Given the description of an element on the screen output the (x, y) to click on. 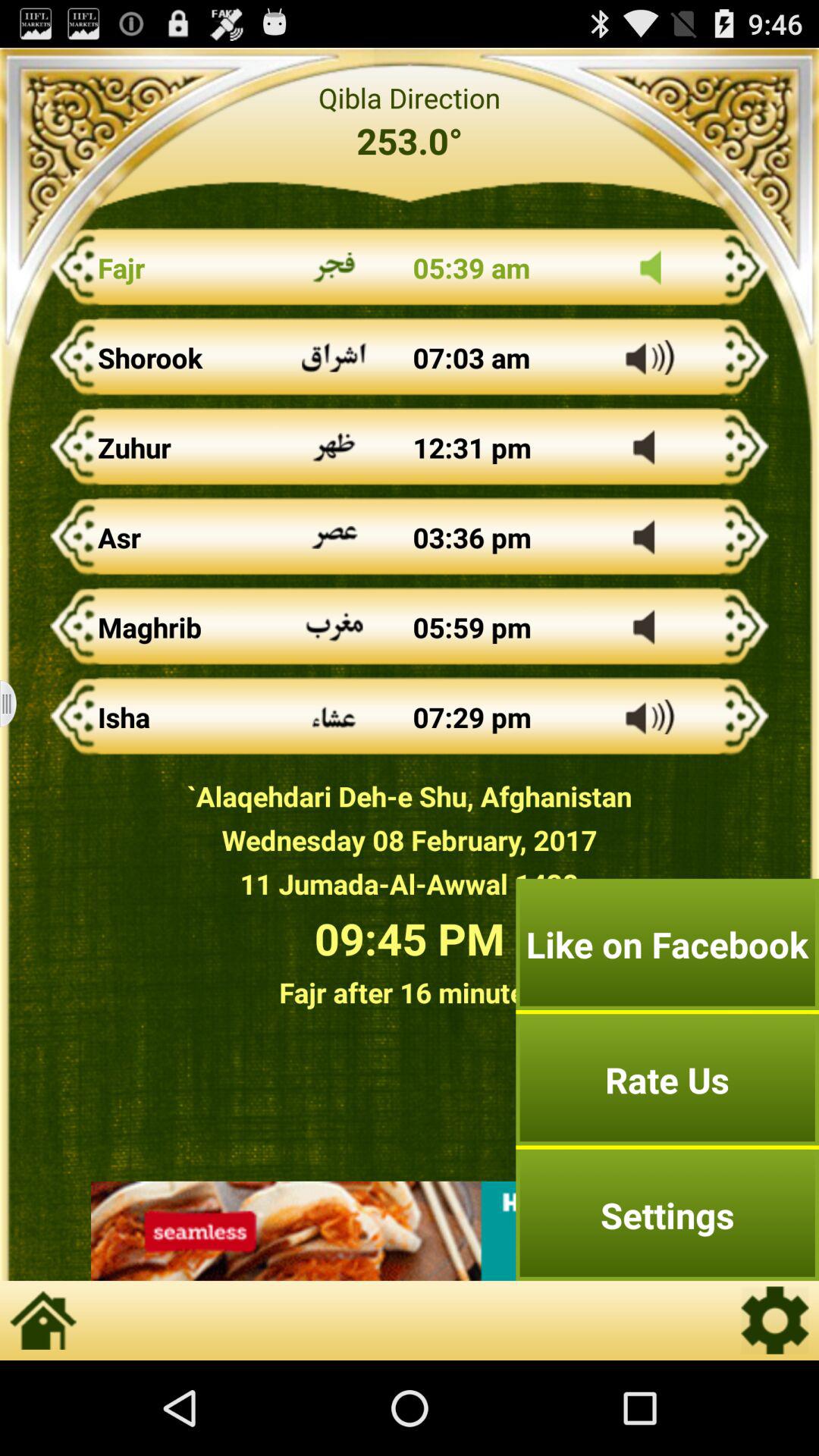
minimize page (18, 703)
